Given the description of an element on the screen output the (x, y) to click on. 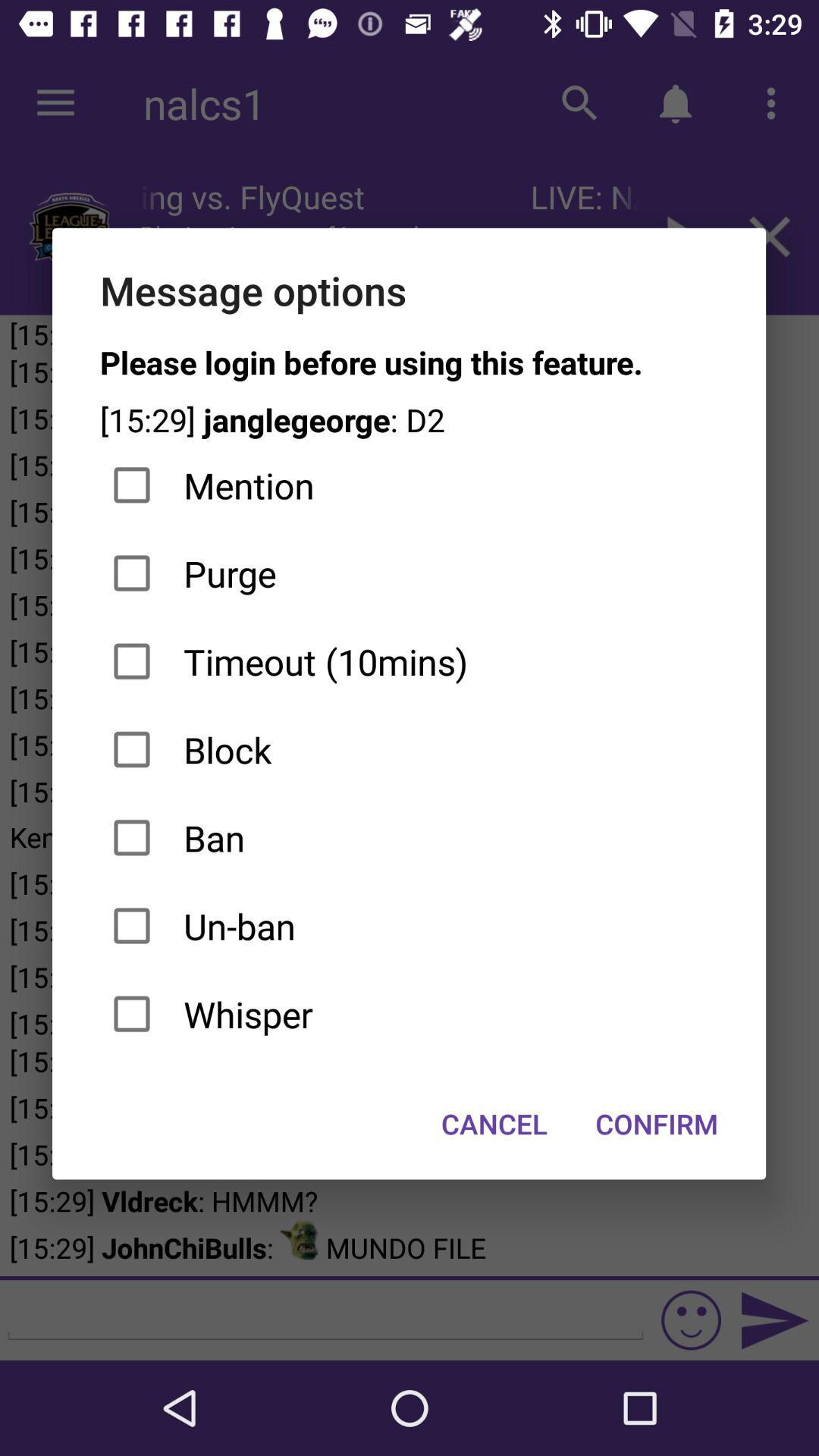
launch the un-ban (409, 926)
